Given the description of an element on the screen output the (x, y) to click on. 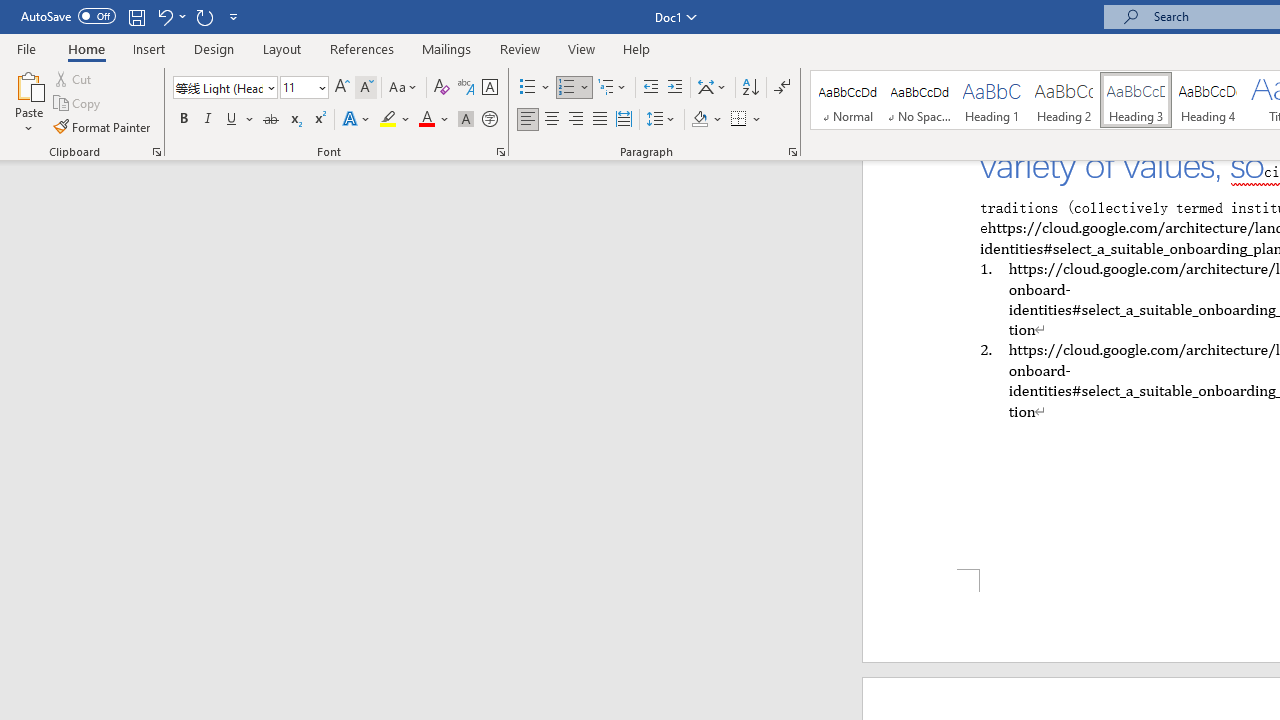
Heading 3 (1135, 100)
Copy (78, 103)
Undo Paragraph Alignment (170, 15)
Text Highlight Color (395, 119)
Clear Formatting (442, 87)
Heading 2 (1063, 100)
Character Border (489, 87)
